Given the description of an element on the screen output the (x, y) to click on. 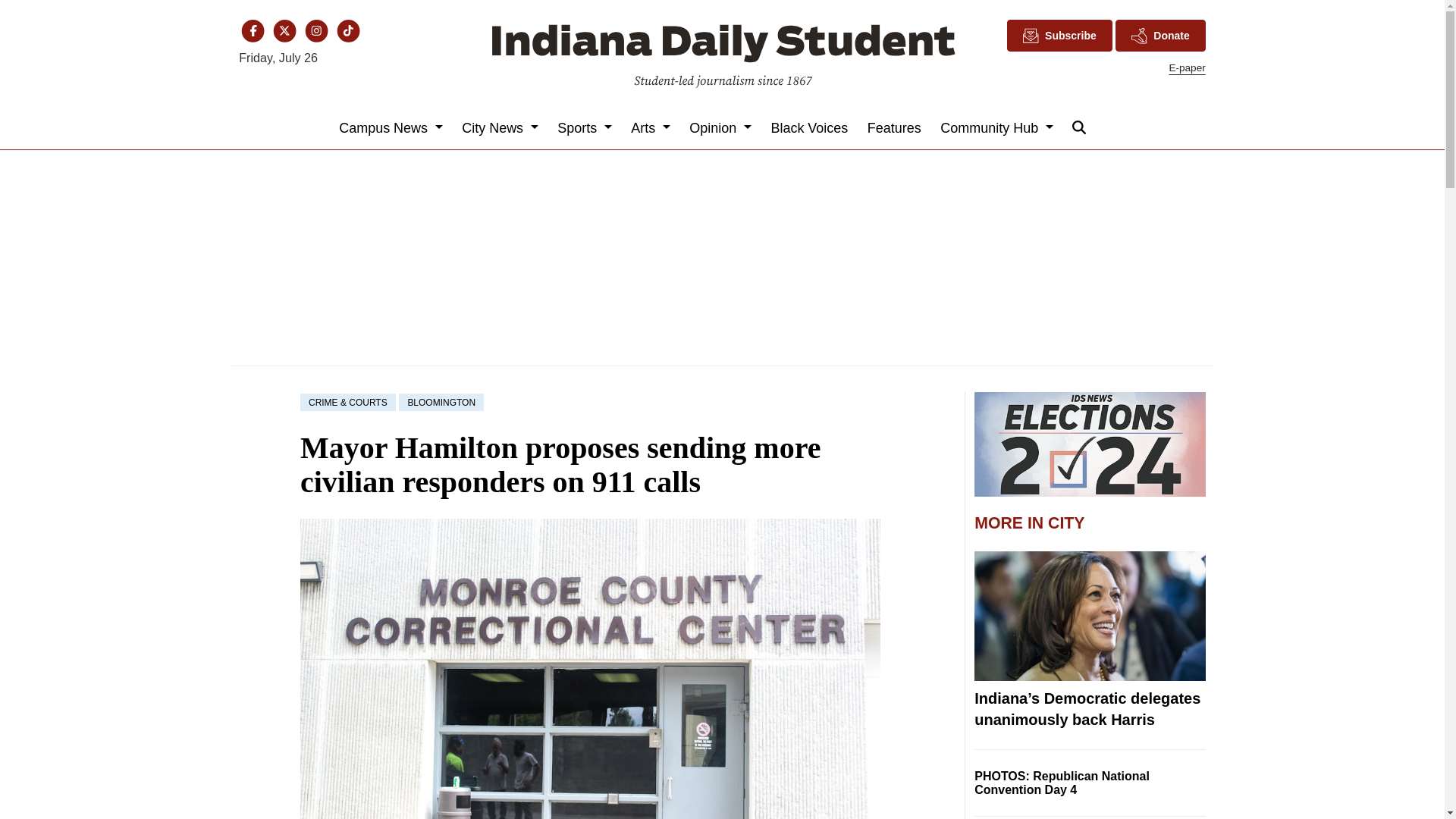
Features (893, 127)
PHOTOS: Republican National Convention Day 4 (1062, 782)
E-paper (1187, 67)
Campus News (391, 127)
Arts (650, 127)
Donate (1160, 35)
Black Voices (809, 127)
City News (499, 127)
Subscribe (1059, 35)
Sports (584, 127)
